Given the description of an element on the screen output the (x, y) to click on. 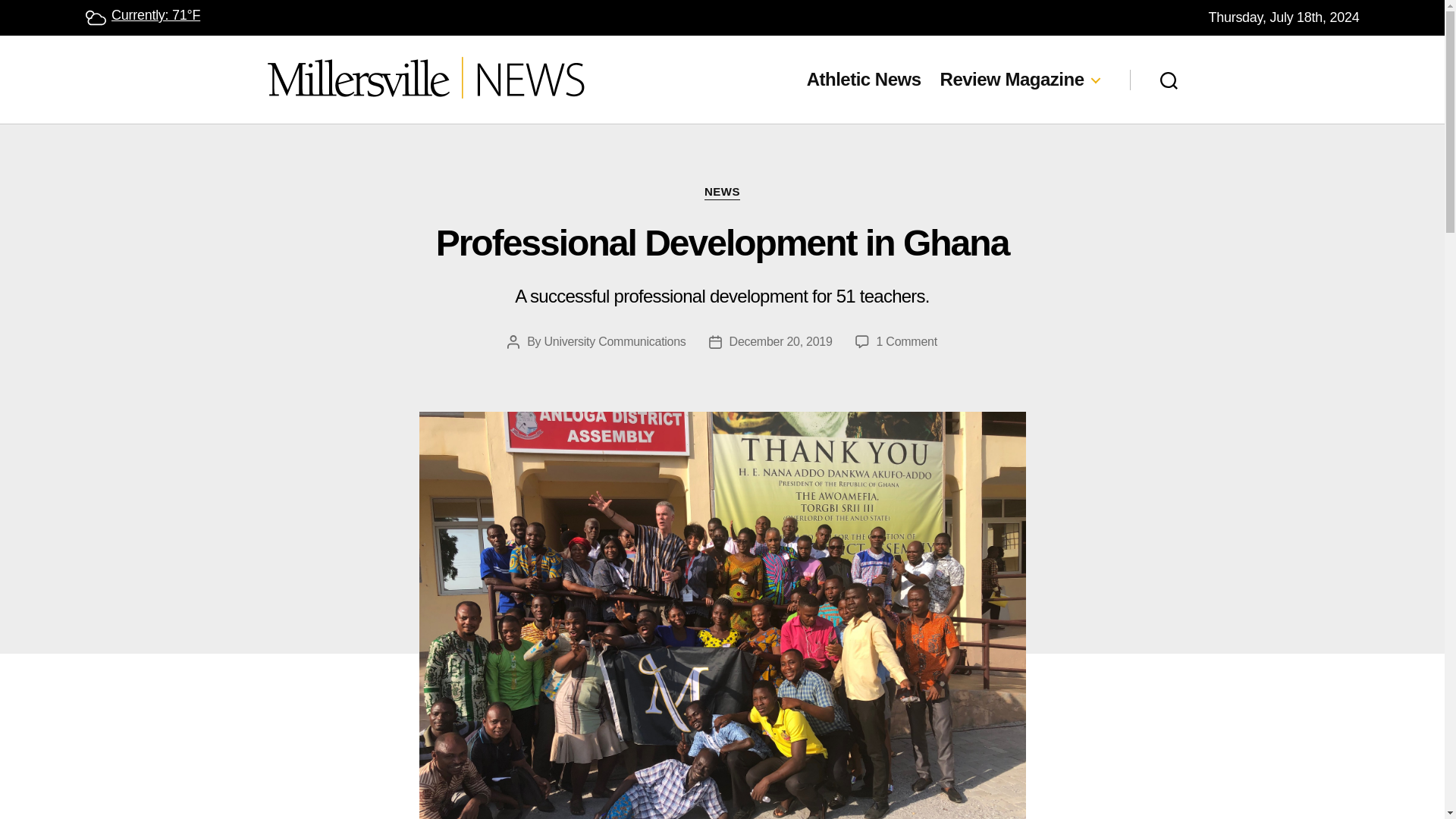
NEWS (906, 341)
Review Magazine (721, 192)
Athletic News (1019, 79)
Partly Cloudy (863, 79)
